Given the description of an element on the screen output the (x, y) to click on. 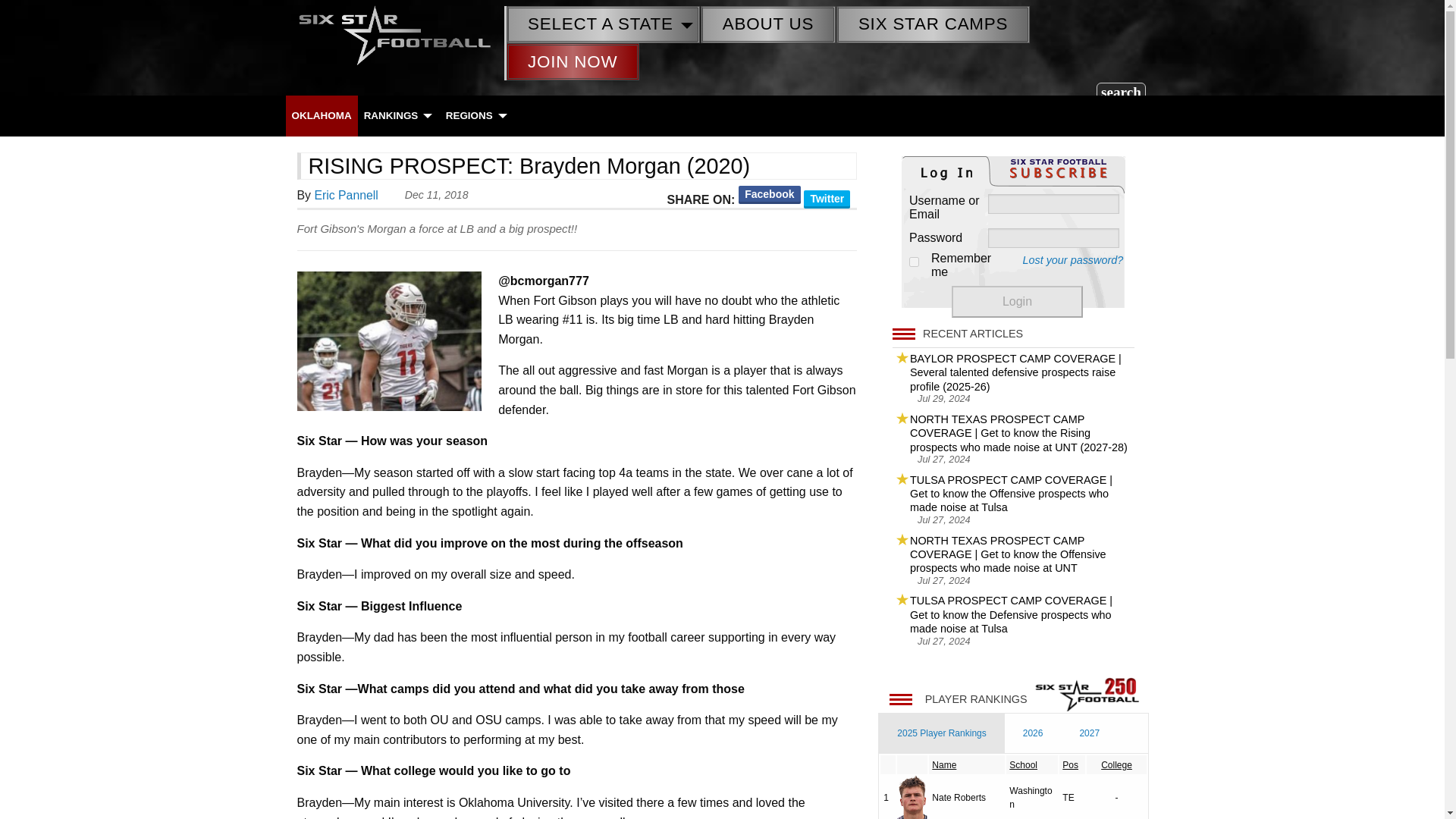
search (1120, 91)
ABOUT US (767, 24)
SELECT A STATE (602, 24)
View all articles by Eric Pannell (345, 195)
RANKINGS (397, 116)
SIX STAR CAMPS (932, 24)
Six Star Football - High School Football Prospects (395, 33)
Login (1017, 301)
REGIONS (475, 116)
OKLAHOMA (320, 116)
1 (913, 261)
Join Now (572, 61)
JOIN NOW (572, 61)
